Given the description of an element on the screen output the (x, y) to click on. 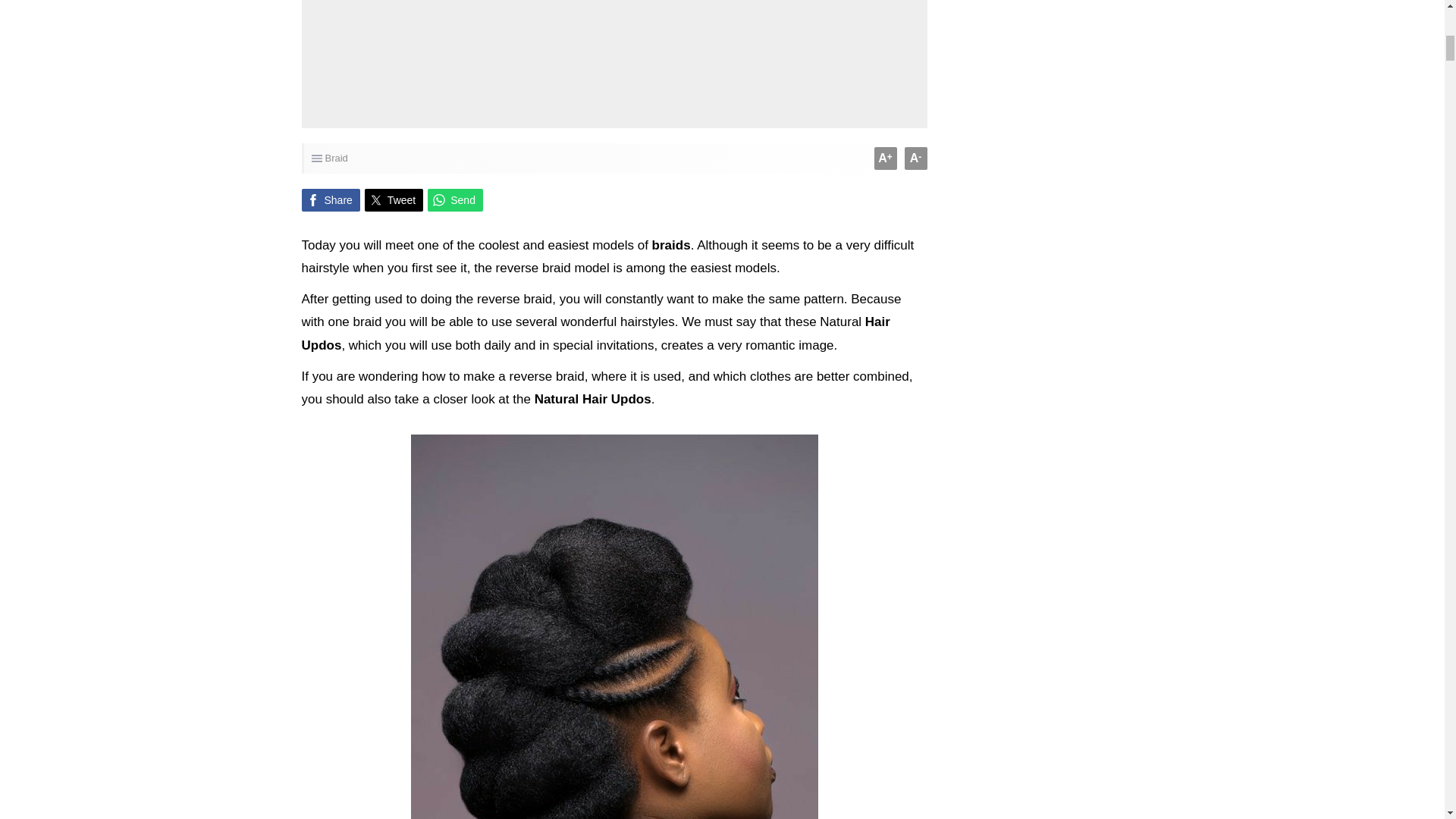
Braid (335, 157)
Advertisement (613, 48)
Share on Twitter (394, 200)
Share on Facebook (330, 200)
Tweet (394, 200)
Share on Whatsapp (455, 200)
Send (455, 200)
Share (330, 200)
